Given the description of an element on the screen output the (x, y) to click on. 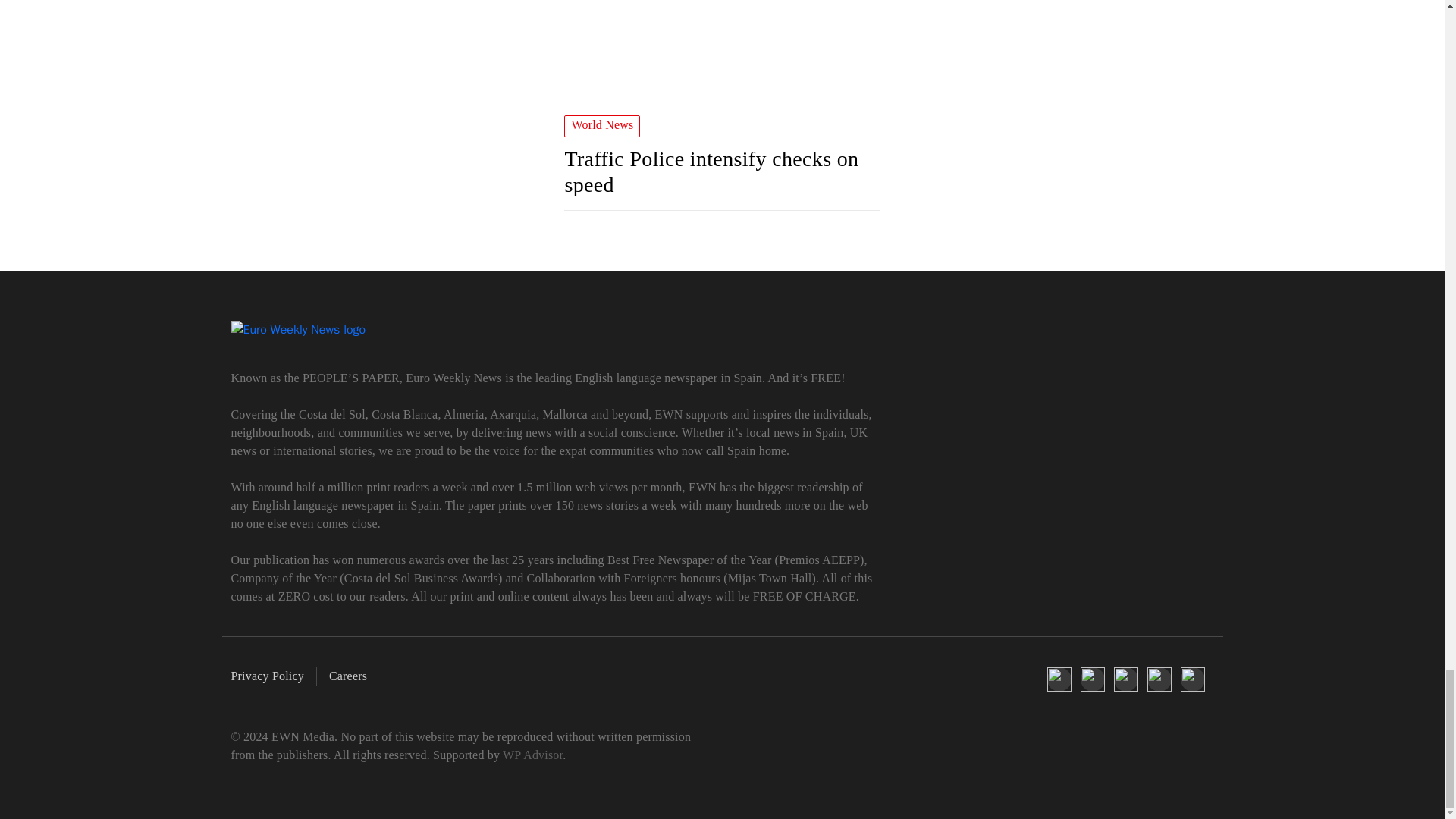
WP Advisor - WordPress done right! (532, 754)
